Given the description of an element on the screen output the (x, y) to click on. 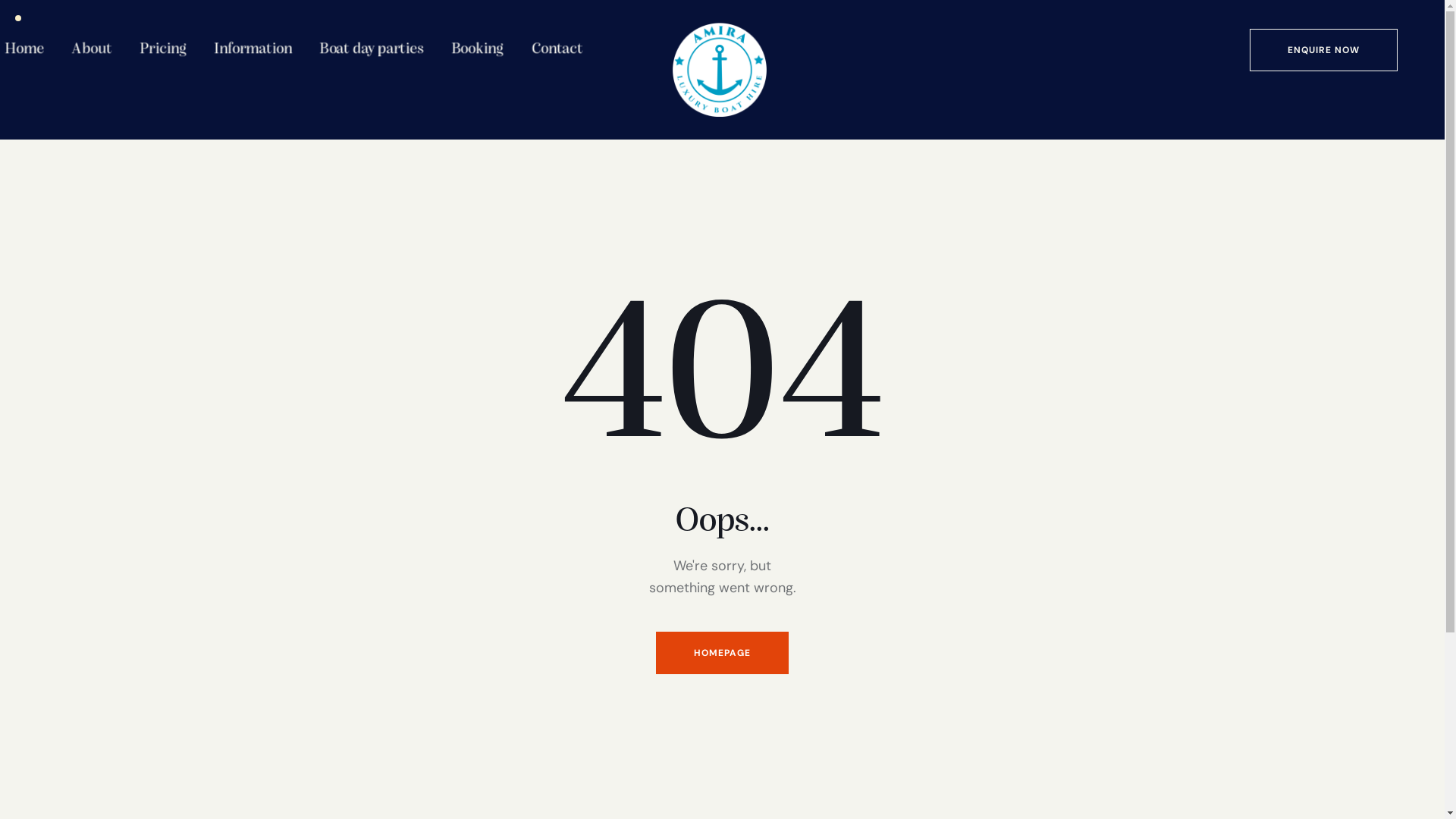
Pricing Element type: text (156, 45)
About Element type: text (86, 45)
Information Element type: text (244, 45)
HOMEPAGE Element type: text (721, 652)
Contact Element type: text (550, 45)
Booking Element type: text (470, 45)
Boat day parties Element type: text (360, 45)
ENQUIRE NOW Element type: text (1323, 49)
